Given the description of an element on the screen output the (x, y) to click on. 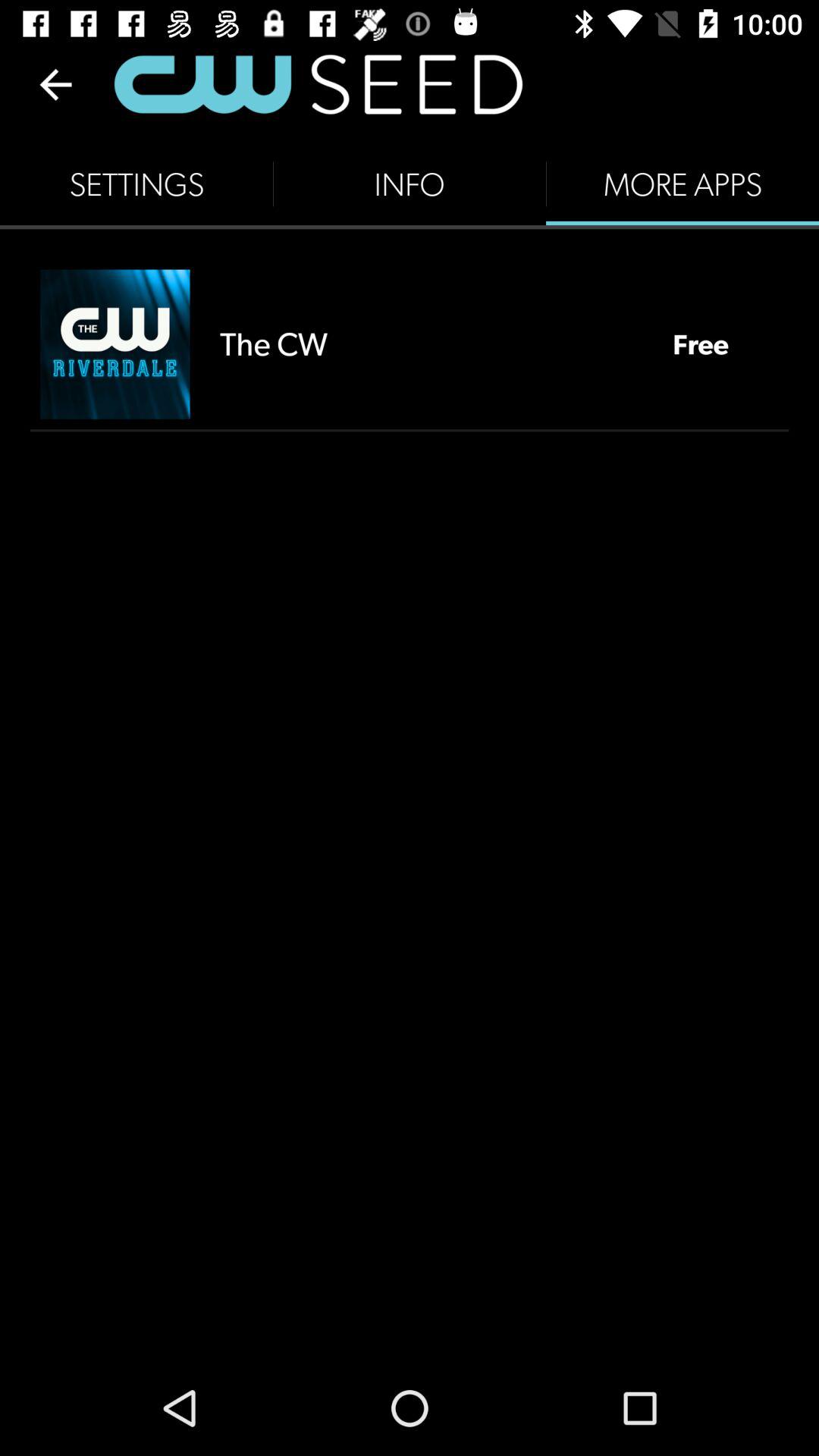
turn on item to the left of the free (431, 343)
